Given the description of an element on the screen output the (x, y) to click on. 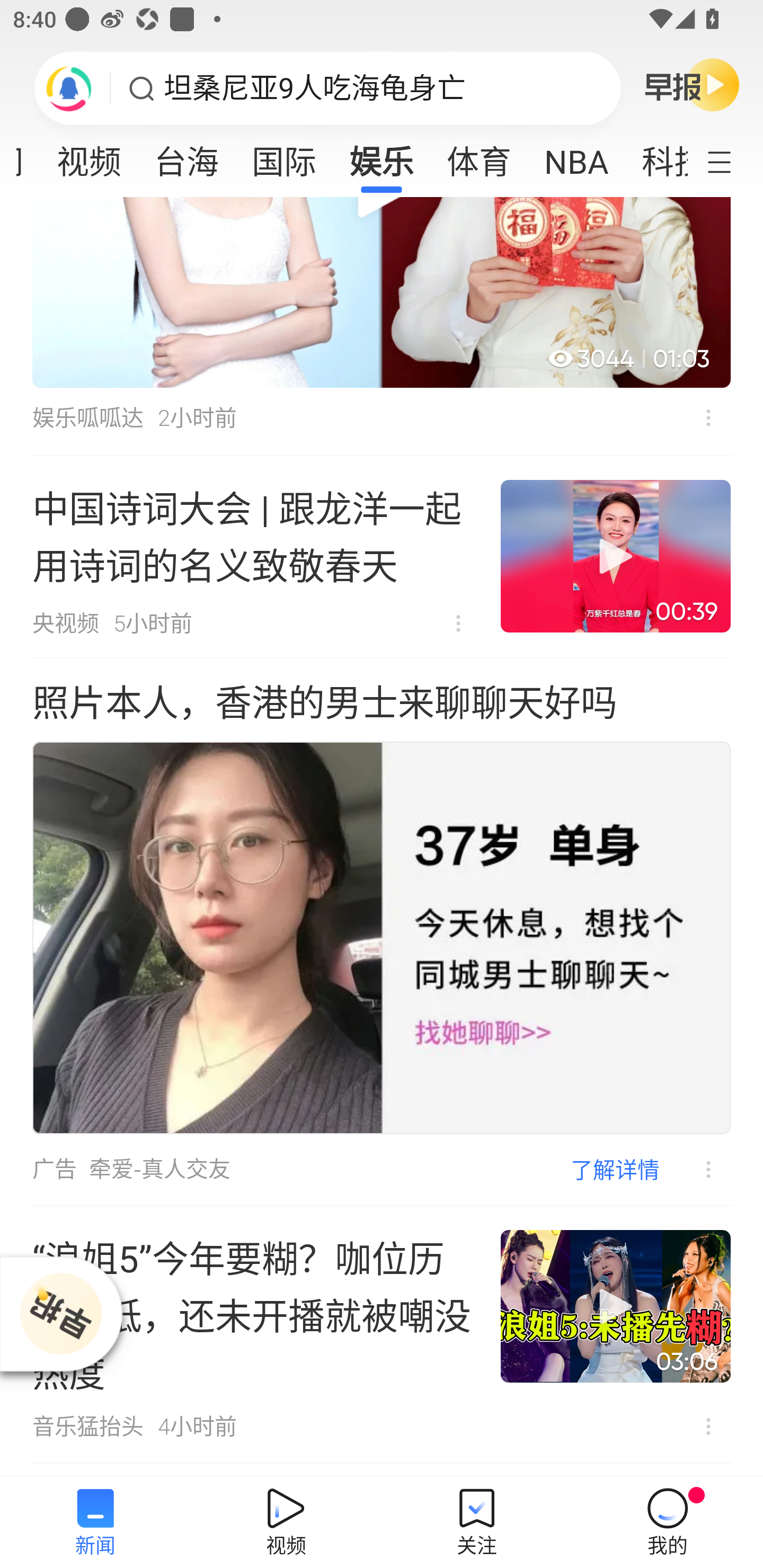
早晚报 (691, 84)
刷新 (68, 88)
坦桑尼亚9人吃海龟身亡 (314, 88)
视频 (89, 155)
台海 (186, 155)
国际 (283, 155)
娱乐 (381, 155)
体育 (478, 155)
NBA (575, 155)
 定制频道 (731, 160)
 3044 01:03 娱乐呱呱达 2小时前  不感兴趣 (381, 325)
 不感兴趣 (707, 417)
中国诗词大会 | 跟龙洋一起用诗词的名义致敬春天 央视频 5小时前  不感兴趣 00:39 (381, 556)
 不感兴趣 (458, 623)
照片本人，香港的男士来聊聊天好吗 (324, 703)
 不感兴趣 (694, 1169)
了解详情 (614, 1168)
广告 (54, 1169)
牵爱-真人交友 (159, 1169)
播放器 (60, 1313)
 不感兴趣 (707, 1426)
